Given the description of an element on the screen output the (x, y) to click on. 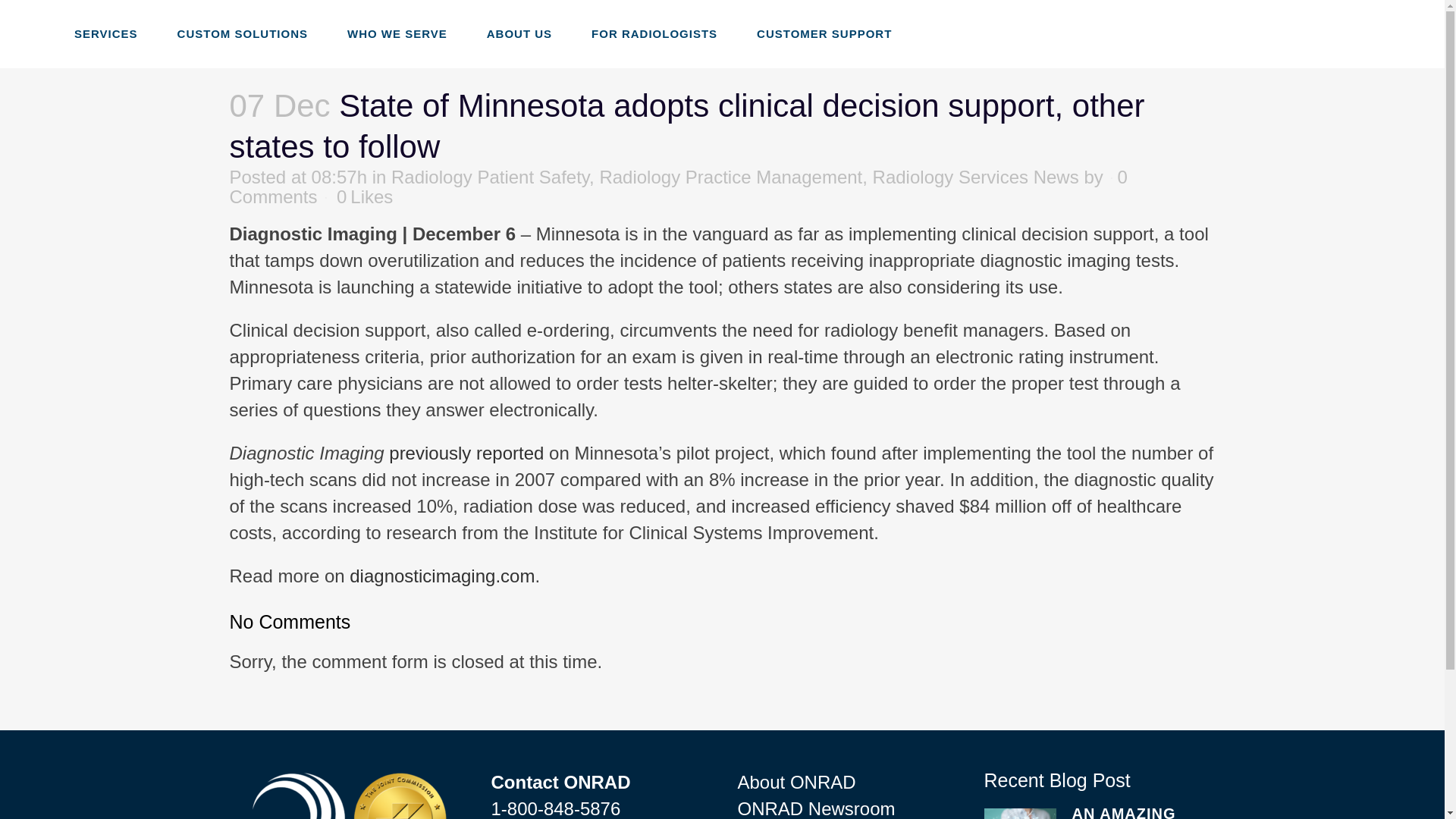
ABOUT US (519, 33)
SERVICES (106, 33)
CUSTOM SOLUTIONS (242, 33)
WHO WE SERVE (397, 33)
CUSTOMER SUPPORT (823, 33)
FOR RADIOLOGISTS (654, 33)
Like this (364, 196)
